Given the description of an element on the screen output the (x, y) to click on. 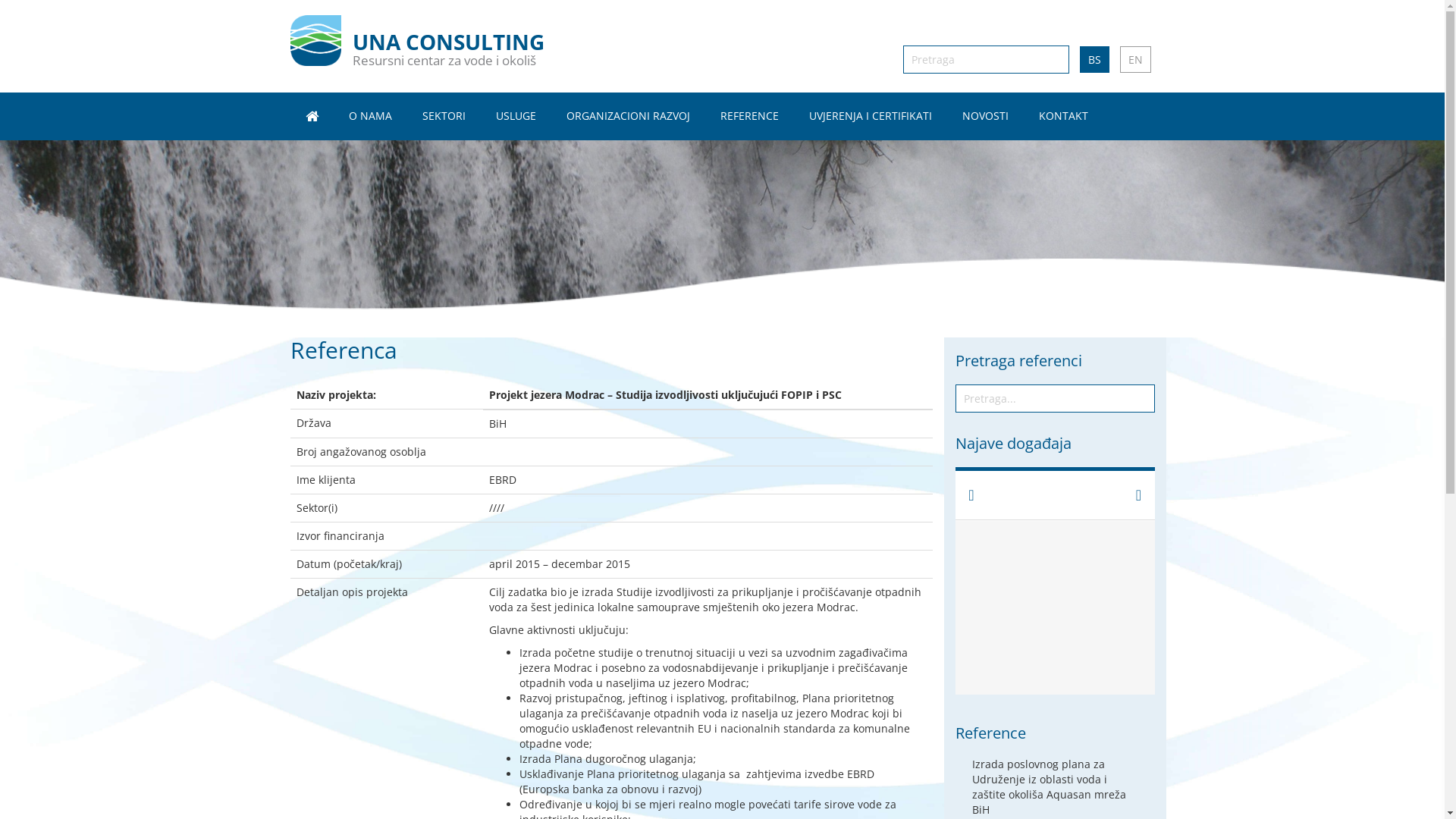
NOVOSTI Element type: text (984, 115)
ORGANIZACIONI RAZVOJ Element type: text (627, 115)
REFERENCE Element type: text (749, 115)
O NAMA Element type: text (370, 115)
UVJERENJA I CERTIFIKATI Element type: text (869, 115)
SEKTORI Element type: text (443, 115)
EN Element type: text (1134, 59)
BS Element type: text (1094, 59)
KONTAKT Element type: text (1063, 115)
USLUGE Element type: text (515, 115)
